Given the description of an element on the screen output the (x, y) to click on. 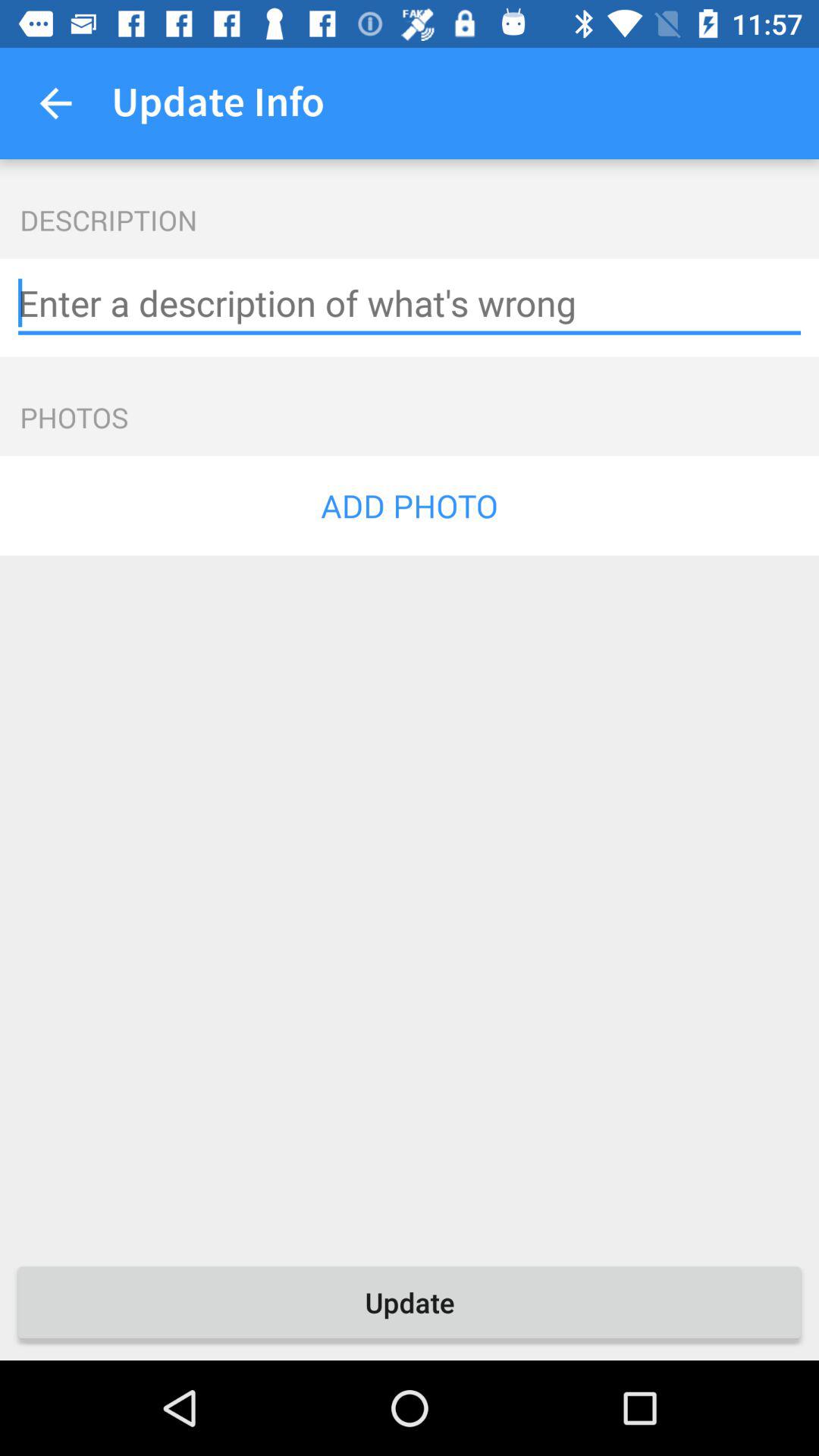
flip to add photo (409, 505)
